Given the description of an element on the screen output the (x, y) to click on. 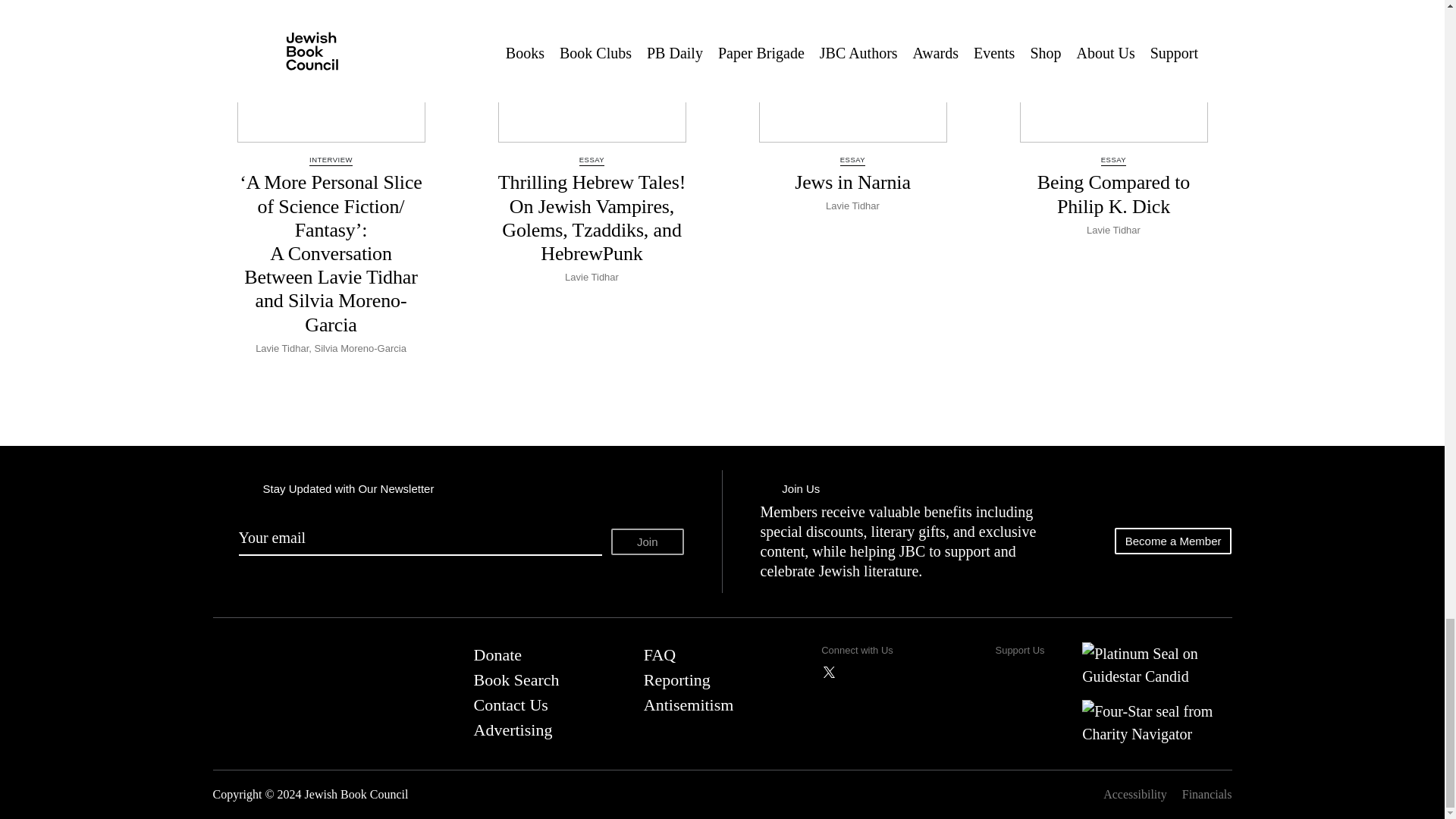
Join (647, 541)
